Given the description of an element on the screen output the (x, y) to click on. 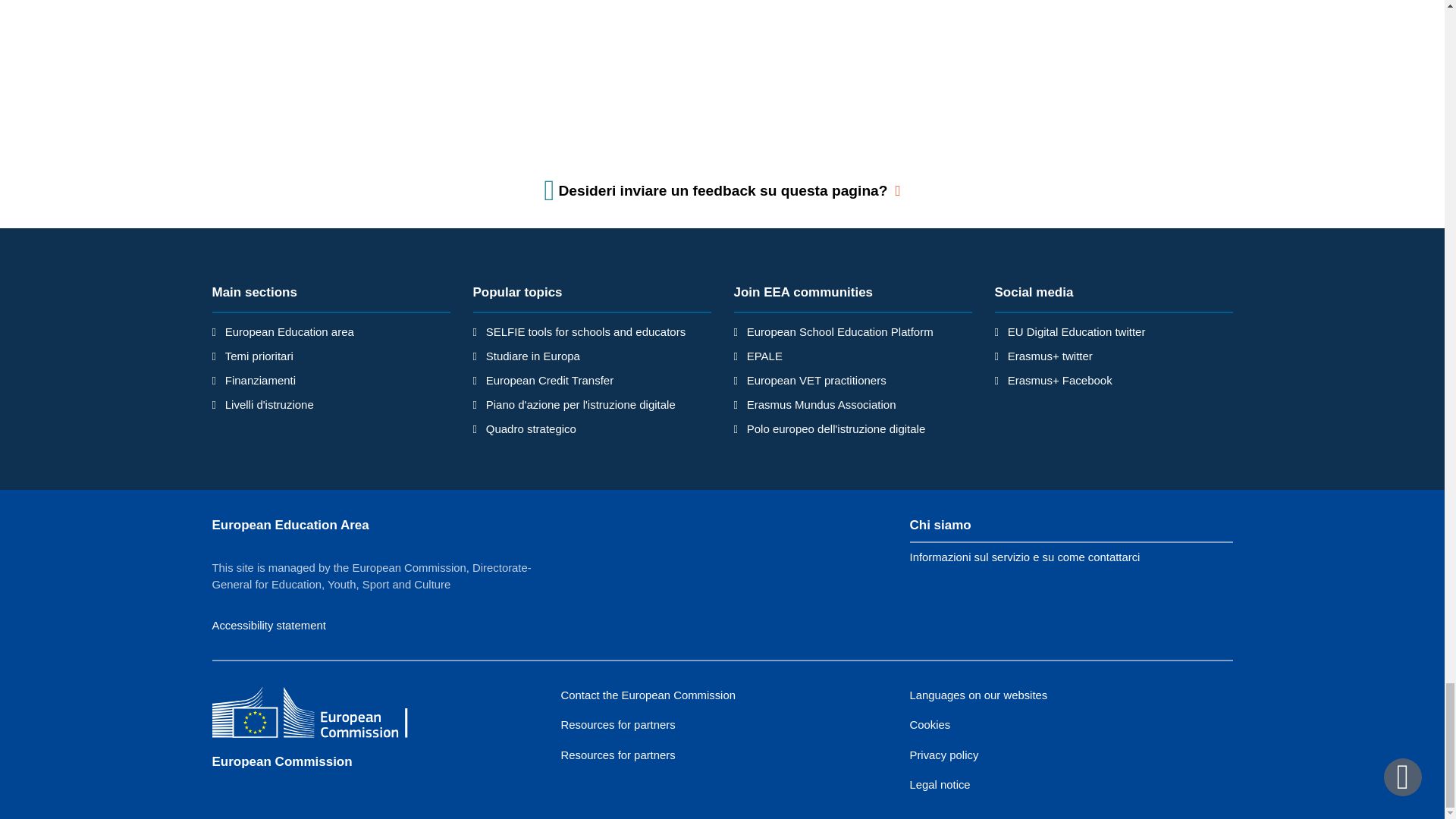
European Commission (322, 714)
Desideri inviare un feedback su questa pagina? (722, 190)
